Given the description of an element on the screen output the (x, y) to click on. 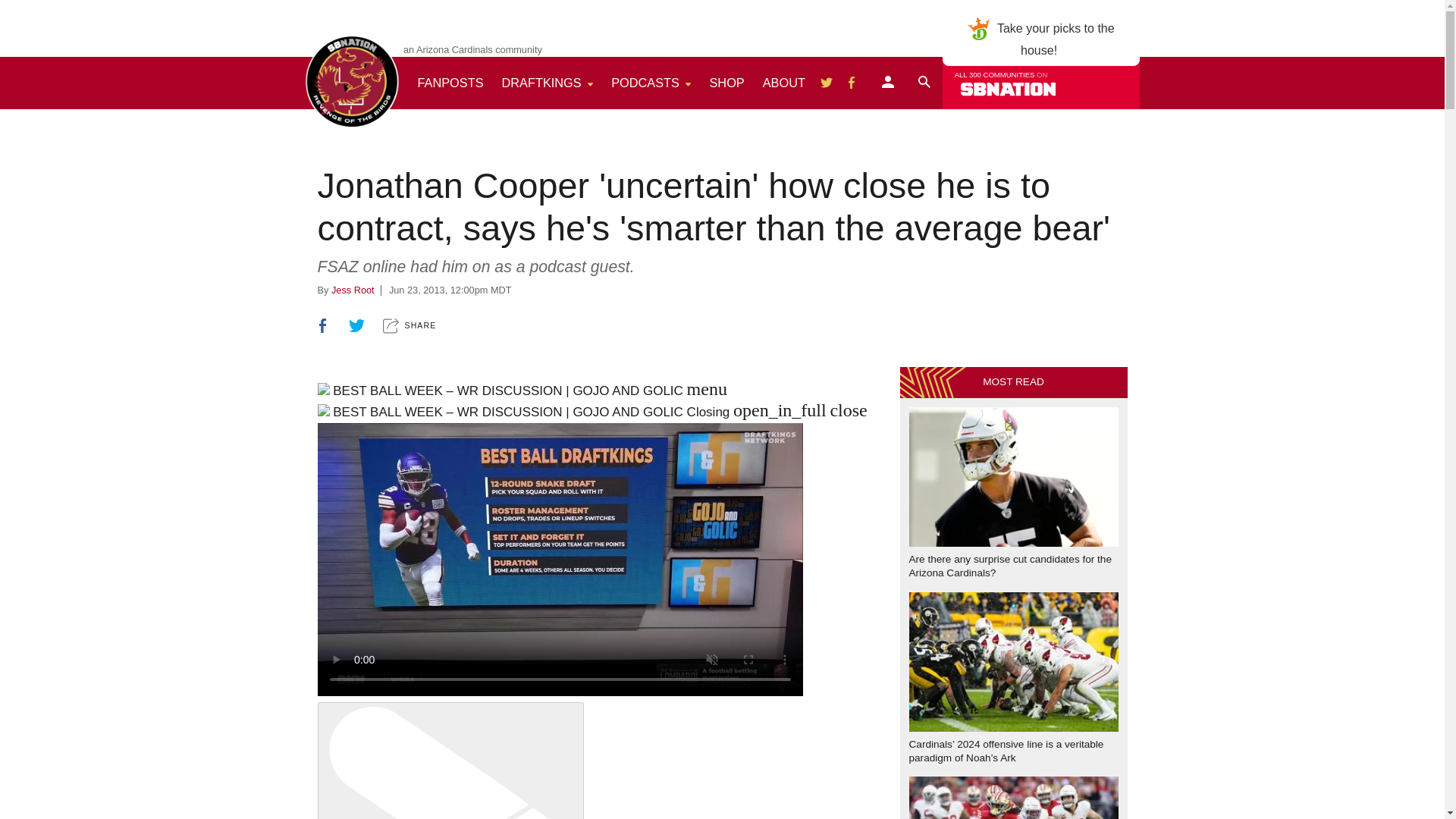
DRAFTKINGS (547, 82)
PODCASTS (651, 82)
Follow Revenge of the Birds on Twitter (826, 83)
Revenge of the Birds homepage (352, 82)
Log in or sign up (924, 83)
Search (887, 83)
3rd party ad content (924, 81)
MORE (783, 82)
Follow Revenge of the Birds on Facebook (846, 82)
Follow Revenge of the Birds on Twitter (851, 83)
Take your picks to the house! (826, 82)
Jess Root (1041, 38)
SHOP (352, 289)
